Given the description of an element on the screen output the (x, y) to click on. 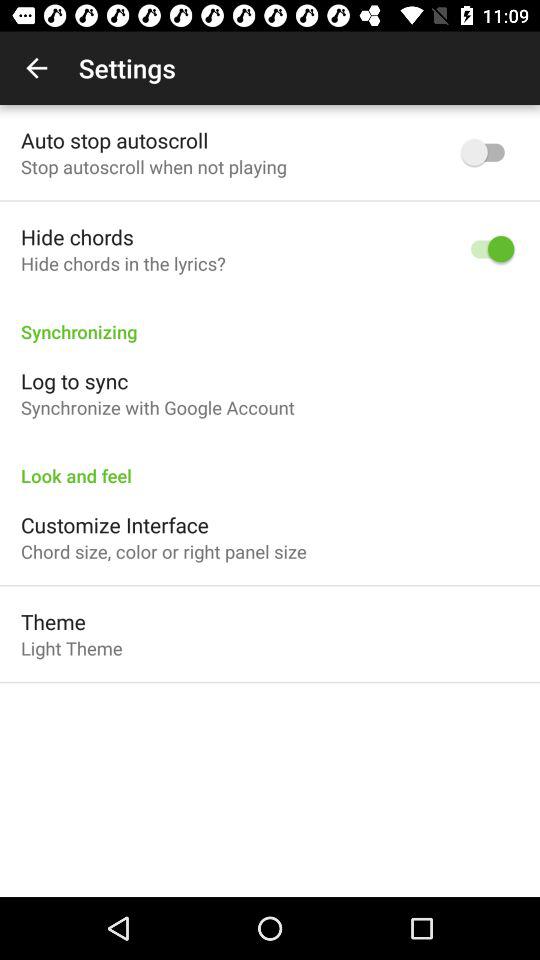
select the synchronize with google (157, 407)
